Given the description of an element on the screen output the (x, y) to click on. 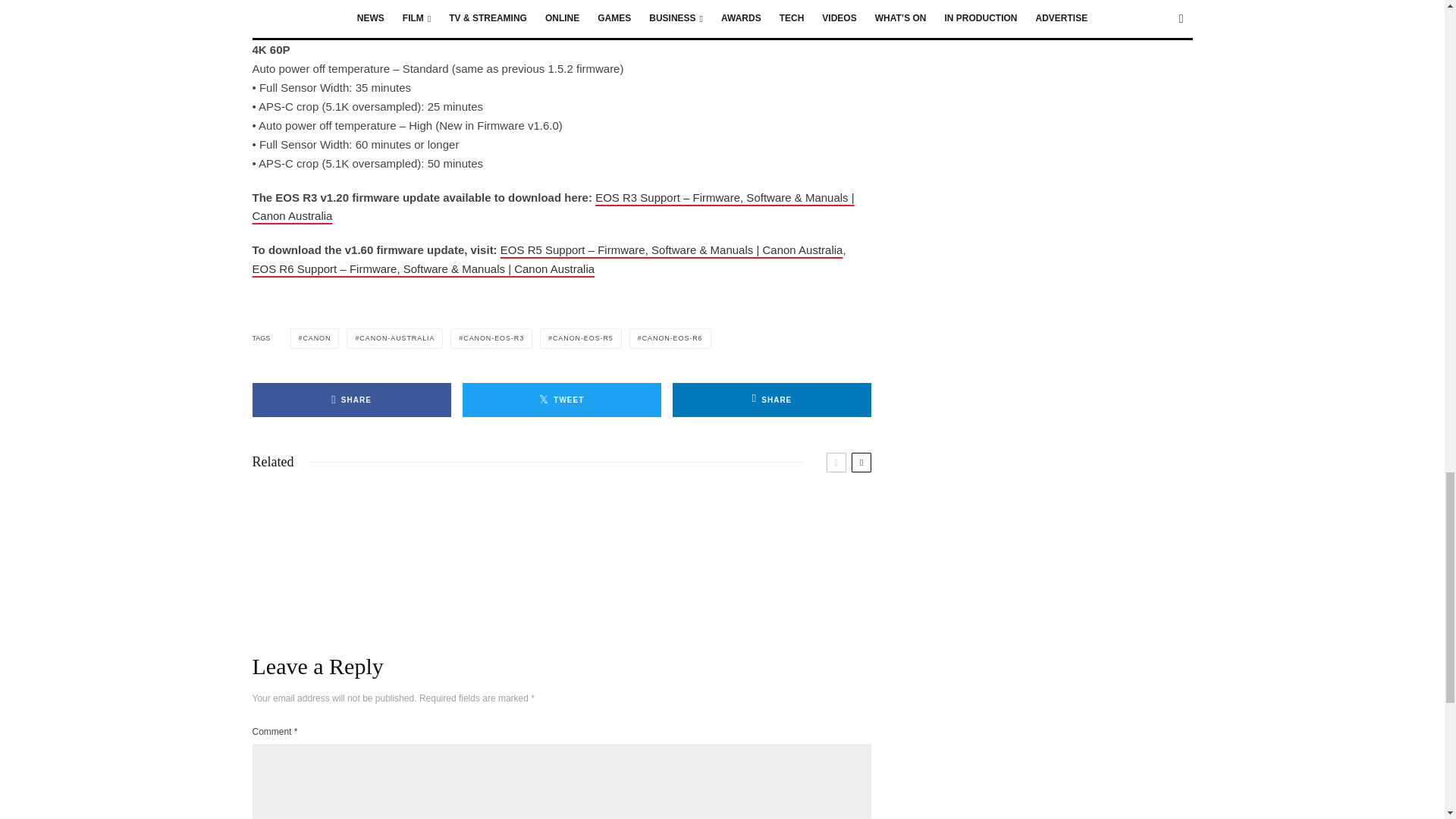
CANON (314, 338)
CANON-AUSTRALIA (394, 338)
